Given the description of an element on the screen output the (x, y) to click on. 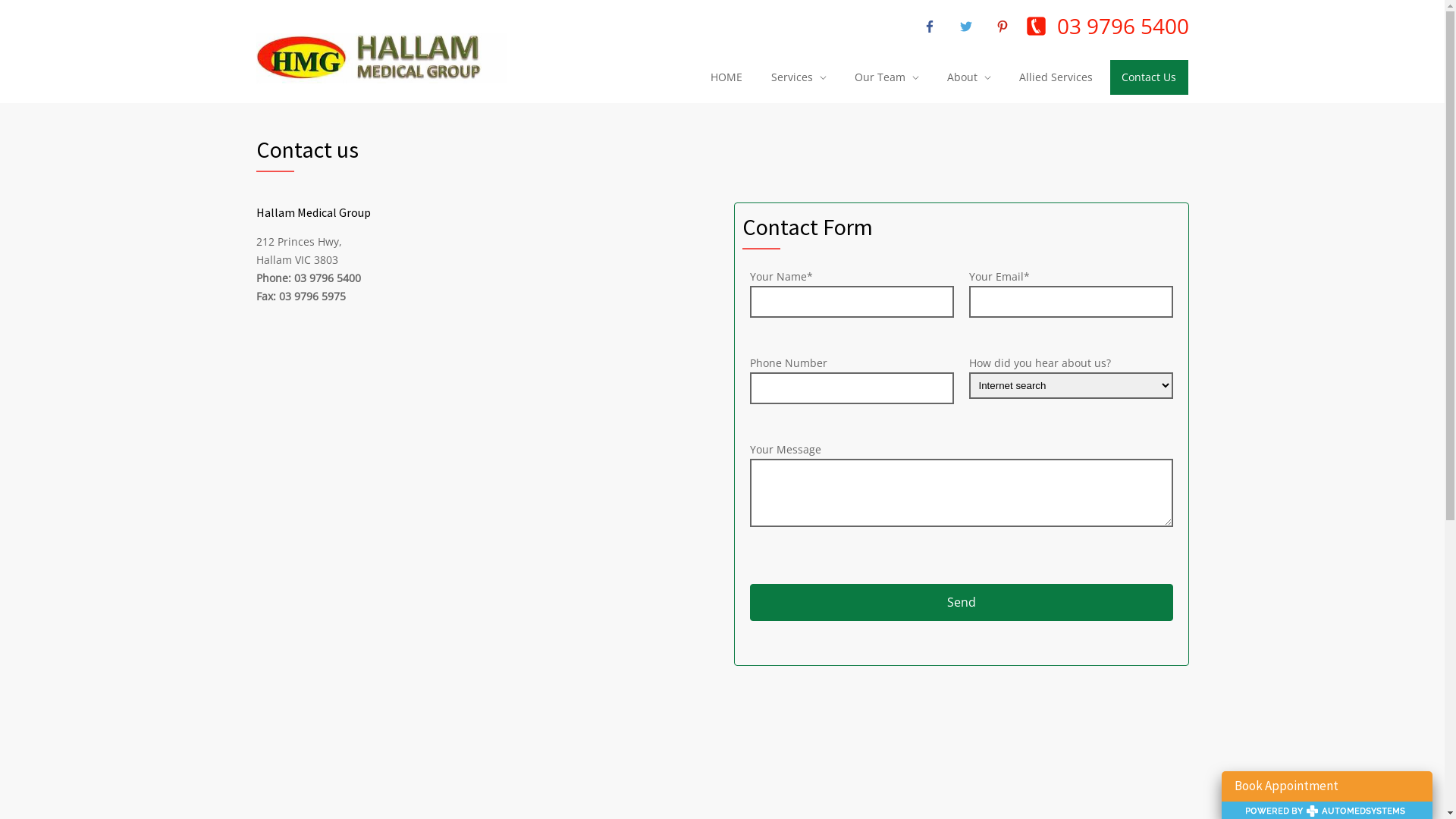
HOME Element type: text (725, 77)
Contact Us Element type: text (1148, 77)
Send Element type: text (960, 602)
Our Team Element type: text (885, 77)
About Element type: text (968, 77)
Allied Services Element type: text (1056, 77)
Services Element type: text (797, 77)
03 9796 5400 Element type: text (1123, 25)
